Given the description of an element on the screen output the (x, y) to click on. 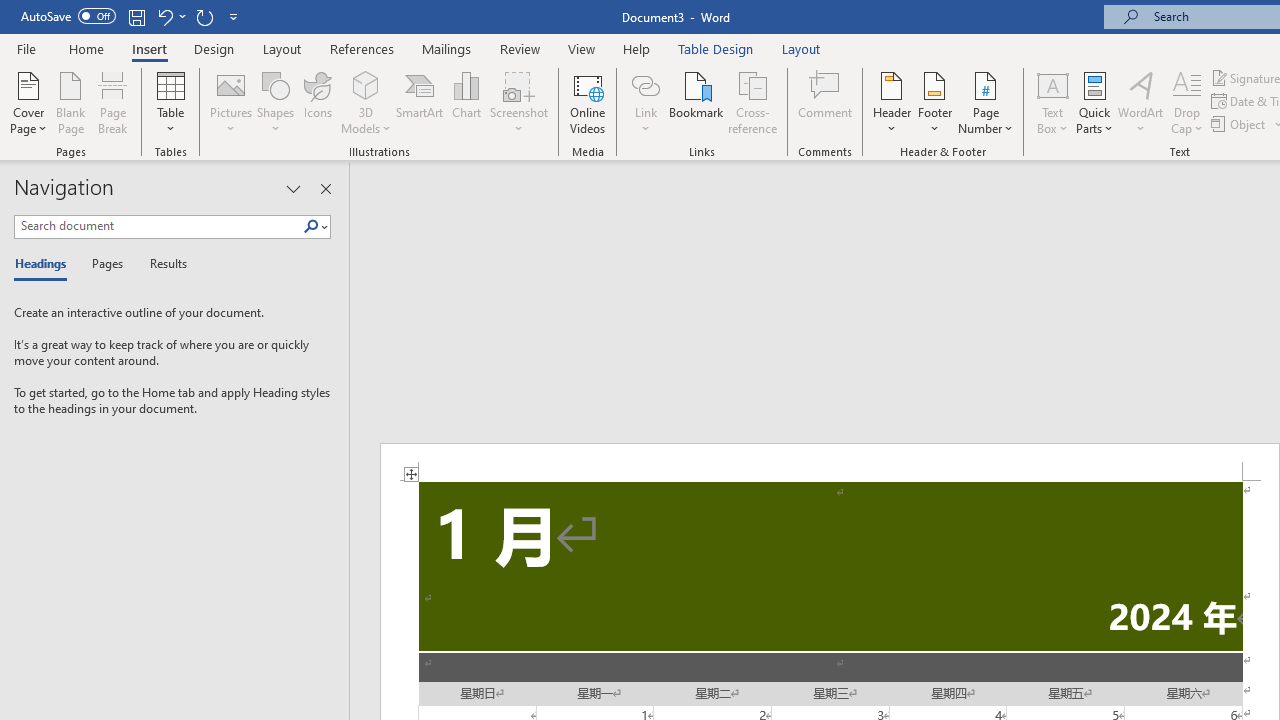
Task Pane Options (293, 188)
Page Break (113, 102)
WordArt (1141, 102)
Blank Page (70, 102)
File Tab (26, 48)
Save (136, 15)
Search (315, 227)
Icons (317, 102)
Online Videos... (588, 102)
Class: NetUIImage (311, 226)
3D Models (366, 84)
Bookmark... (695, 102)
Pictures (230, 102)
More Options (645, 121)
Insert (149, 48)
